Given the description of an element on the screen output the (x, y) to click on. 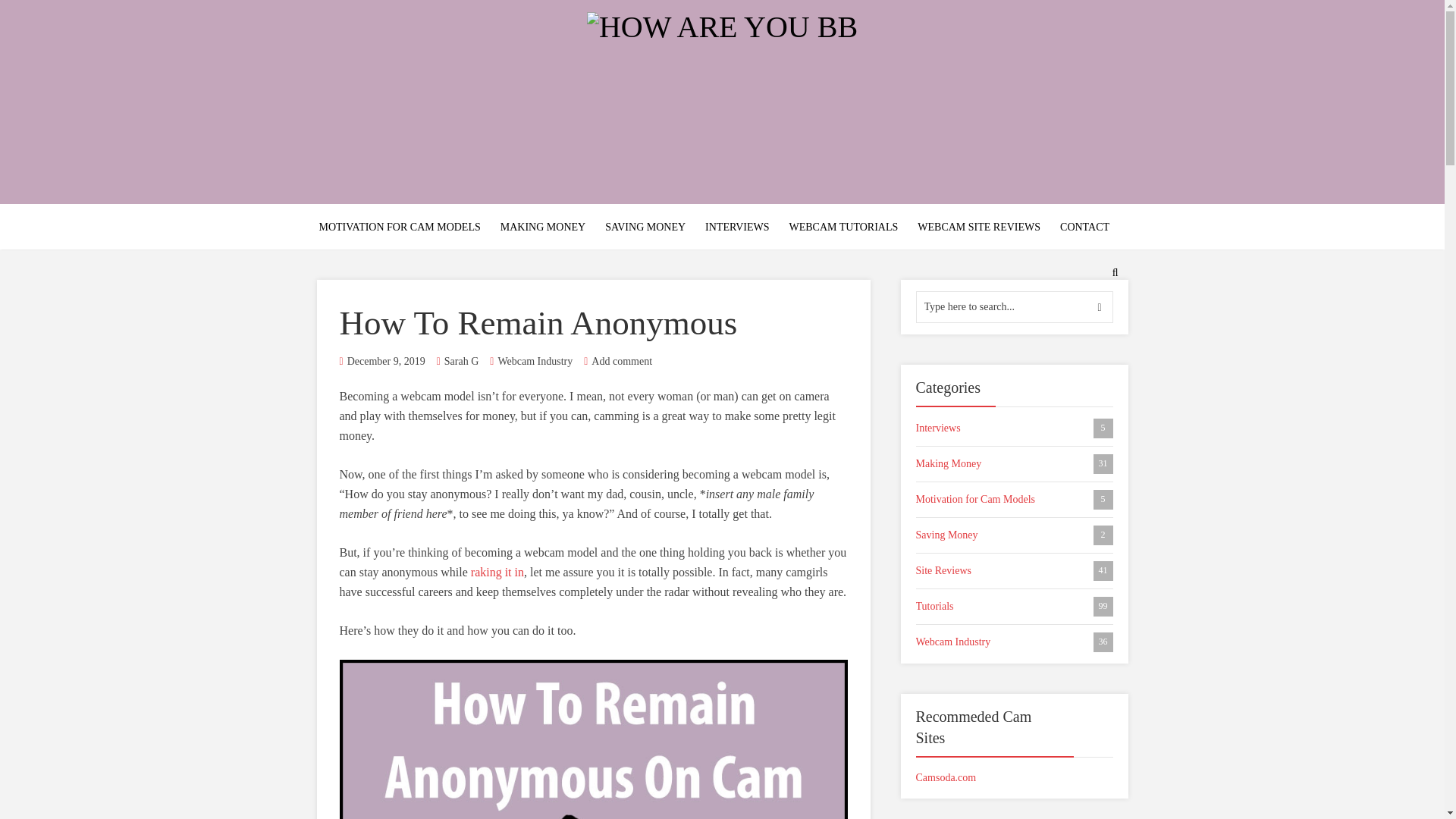
Sarah G (461, 360)
SAVING MONEY (644, 227)
Type here to search... (1014, 306)
MAKING MONEY (1014, 499)
CONTACT (542, 227)
raking it in (1085, 227)
Add comment (497, 571)
WEBCAM SITE REVIEWS (1014, 535)
WEBCAM TUTORIALS (621, 360)
Camsoda.com (978, 227)
How are you BB (1014, 570)
